Given the description of an element on the screen output the (x, y) to click on. 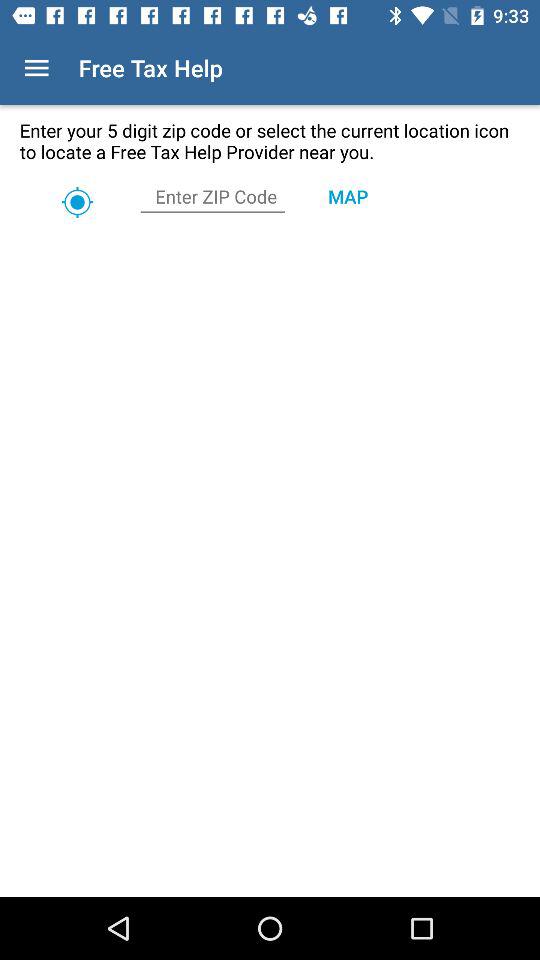
choose the icon below enter your 5 item (347, 196)
